Given the description of an element on the screen output the (x, y) to click on. 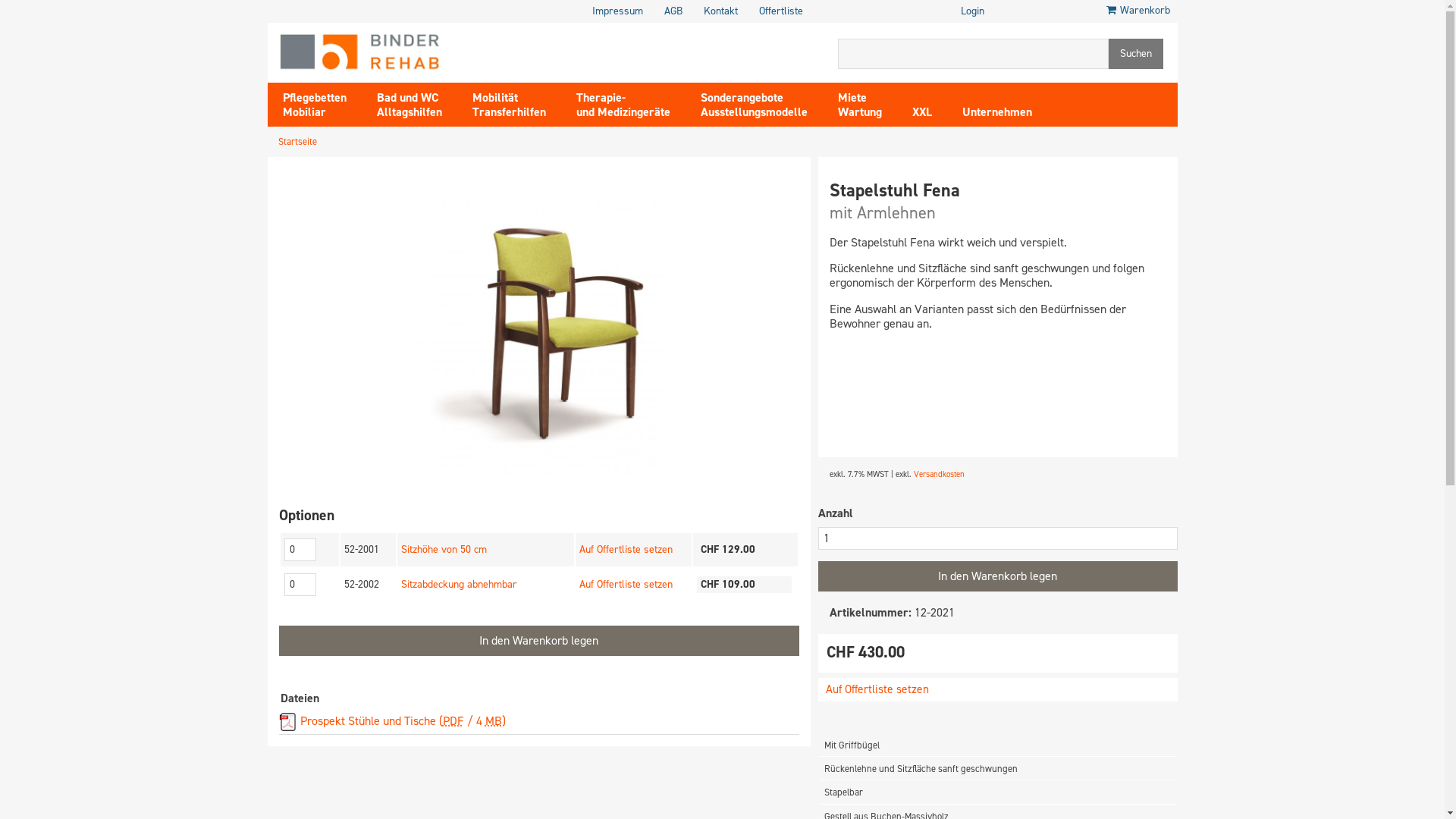
Auf Offertliste setzen Element type: text (625, 549)
XXL Element type: text (921, 103)
Pflegebetten
Mobiliar Element type: text (313, 103)
Sitzabdeckung abnehmbar Element type: text (459, 584)
Auf Offertliste setzen Element type: text (625, 584)
Suchen Element type: text (1135, 53)
application/pdf Element type: hover (288, 721)
In den Warenkorb legen Element type: text (539, 640)
In den Warenkorb legen Element type: text (996, 576)
Unternehmen Element type: text (996, 103)
Versandkosten Element type: text (938, 474)
Sonderangebote
Ausstellungsmodelle Element type: text (753, 103)
Auf Offertliste setzen Element type: text (876, 688)
Startseite Element type: hover (358, 49)
Login Element type: text (972, 11)
Startseite Element type: text (296, 141)
Miete
Wartung Element type: text (859, 103)
Bad und WC
Alltagshilfen Element type: text (408, 103)
